Given the description of an element on the screen output the (x, y) to click on. 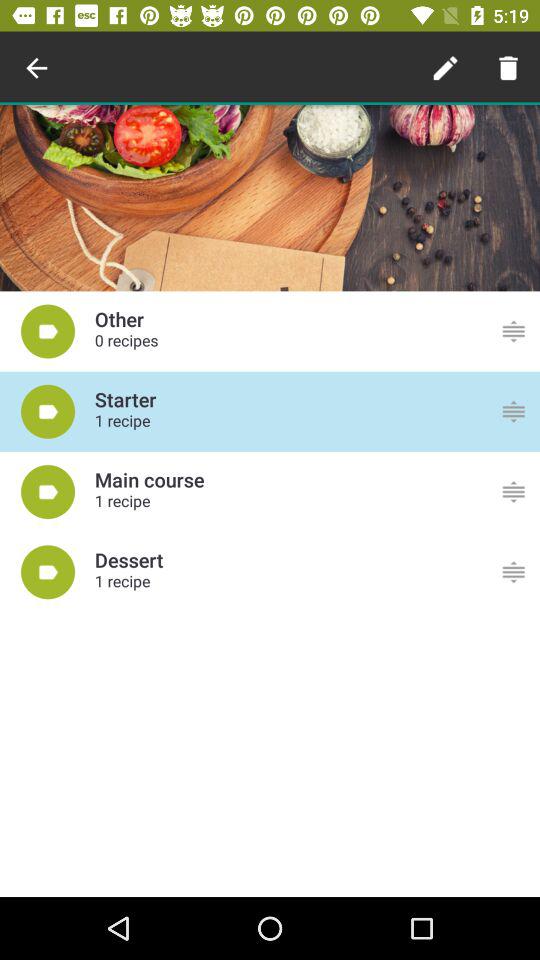
click on the icon left to other (48, 332)
click on the pencil icon left to delete icon at the right top corner (445, 68)
